Given the description of an element on the screen output the (x, y) to click on. 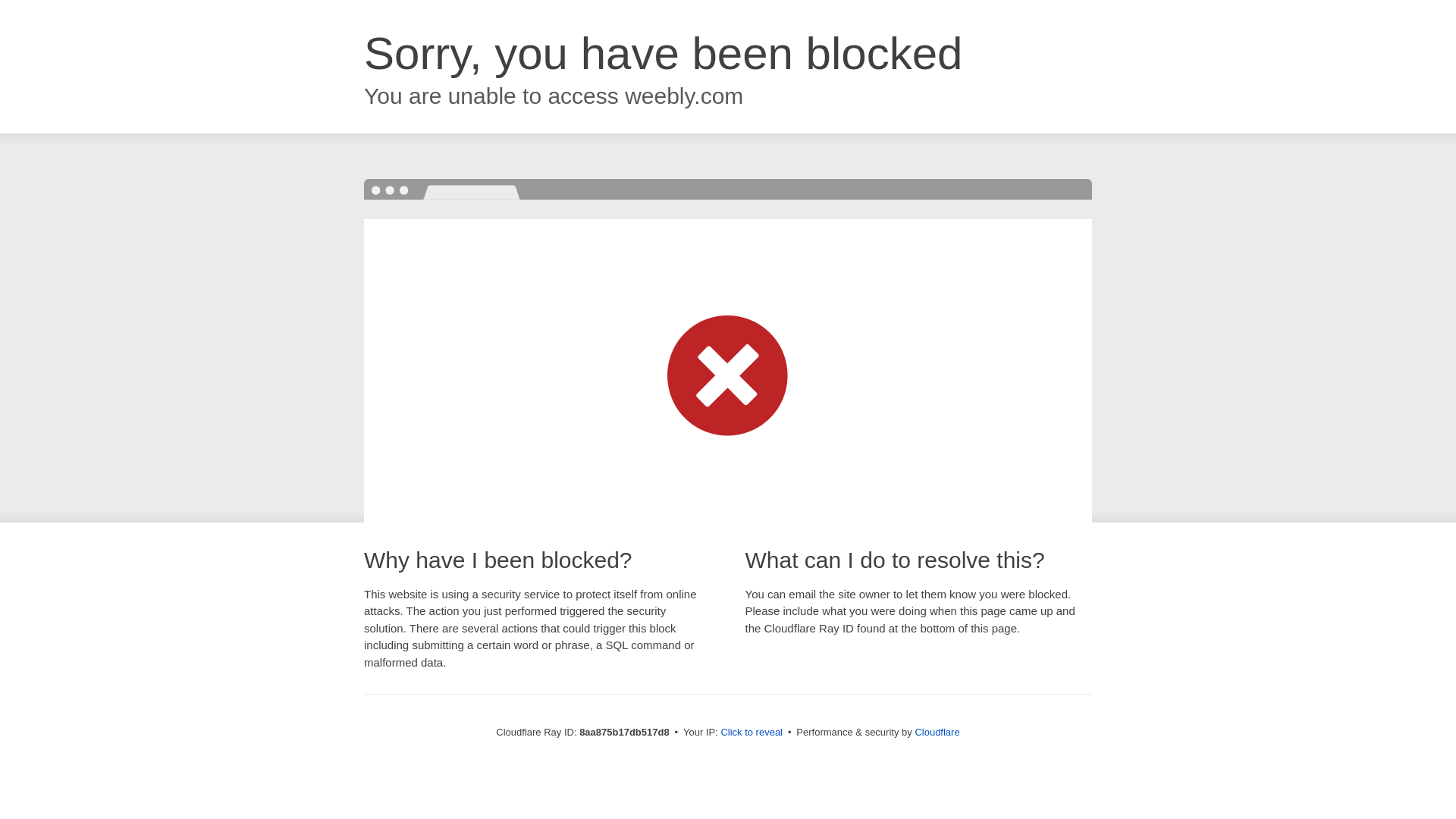
Cloudflare (936, 731)
Click to reveal (751, 732)
